Given the description of an element on the screen output the (x, y) to click on. 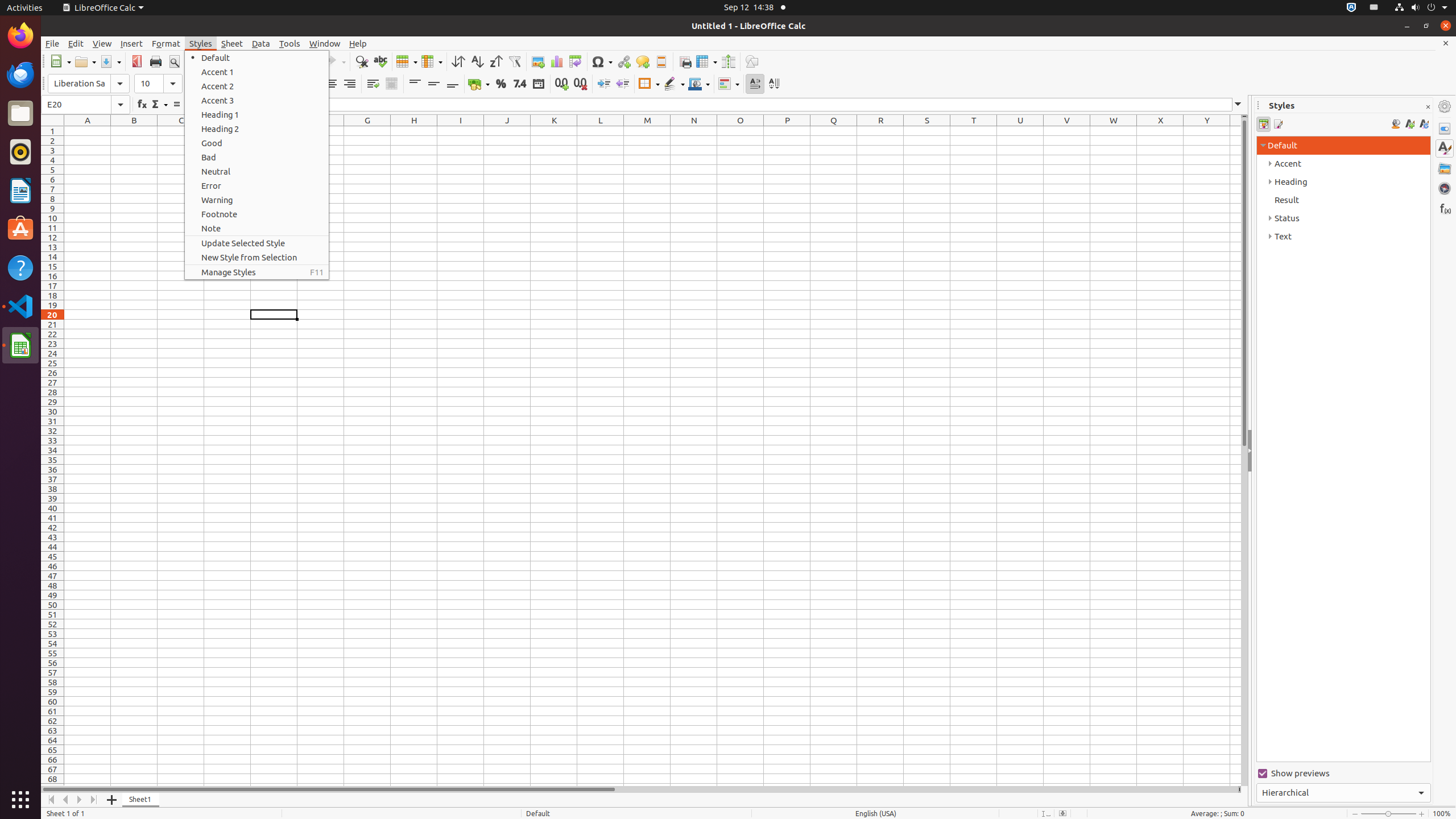
Accent 2 Element type: radio-menu-item (256, 86)
Data Element type: menu (260, 43)
Note Element type: radio-menu-item (256, 228)
B1 Element type: table-cell (133, 130)
Warning Element type: radio-menu-item (256, 199)
